Given the description of an element on the screen output the (x, y) to click on. 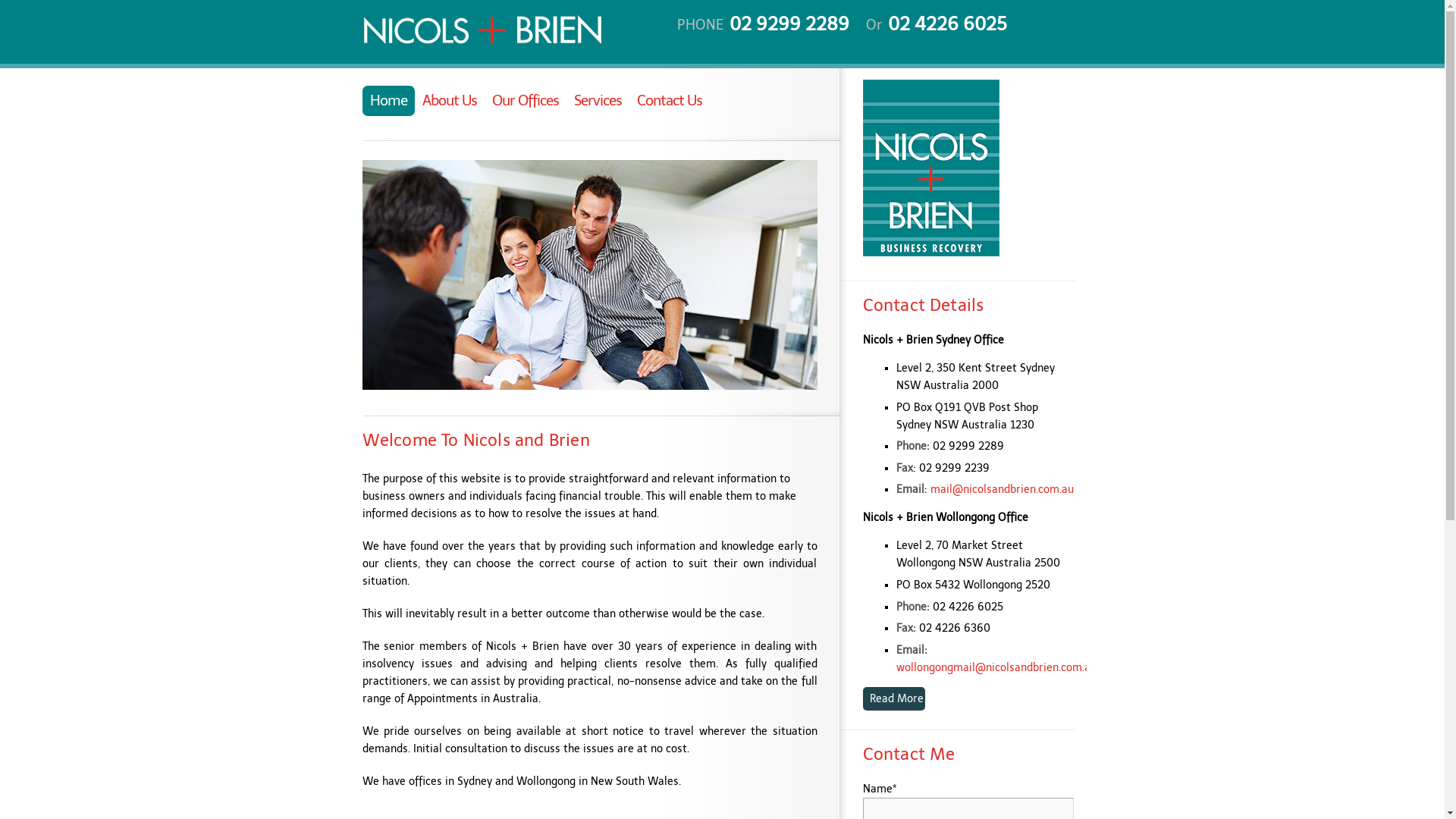
About Us Element type: text (448, 100)
Read More Element type: text (893, 698)
mail@nicolsandbrien.com.au Element type: text (1001, 489)
Home Element type: text (388, 100)
wollongongmail@nicolsandbrien.com.au Element type: text (996, 667)
Services Element type: text (596, 100)
Nicols and Brien Element type: hover (930, 252)
Our Offices Element type: text (524, 100)
Contact Us Element type: text (669, 100)
